Given the description of an element on the screen output the (x, y) to click on. 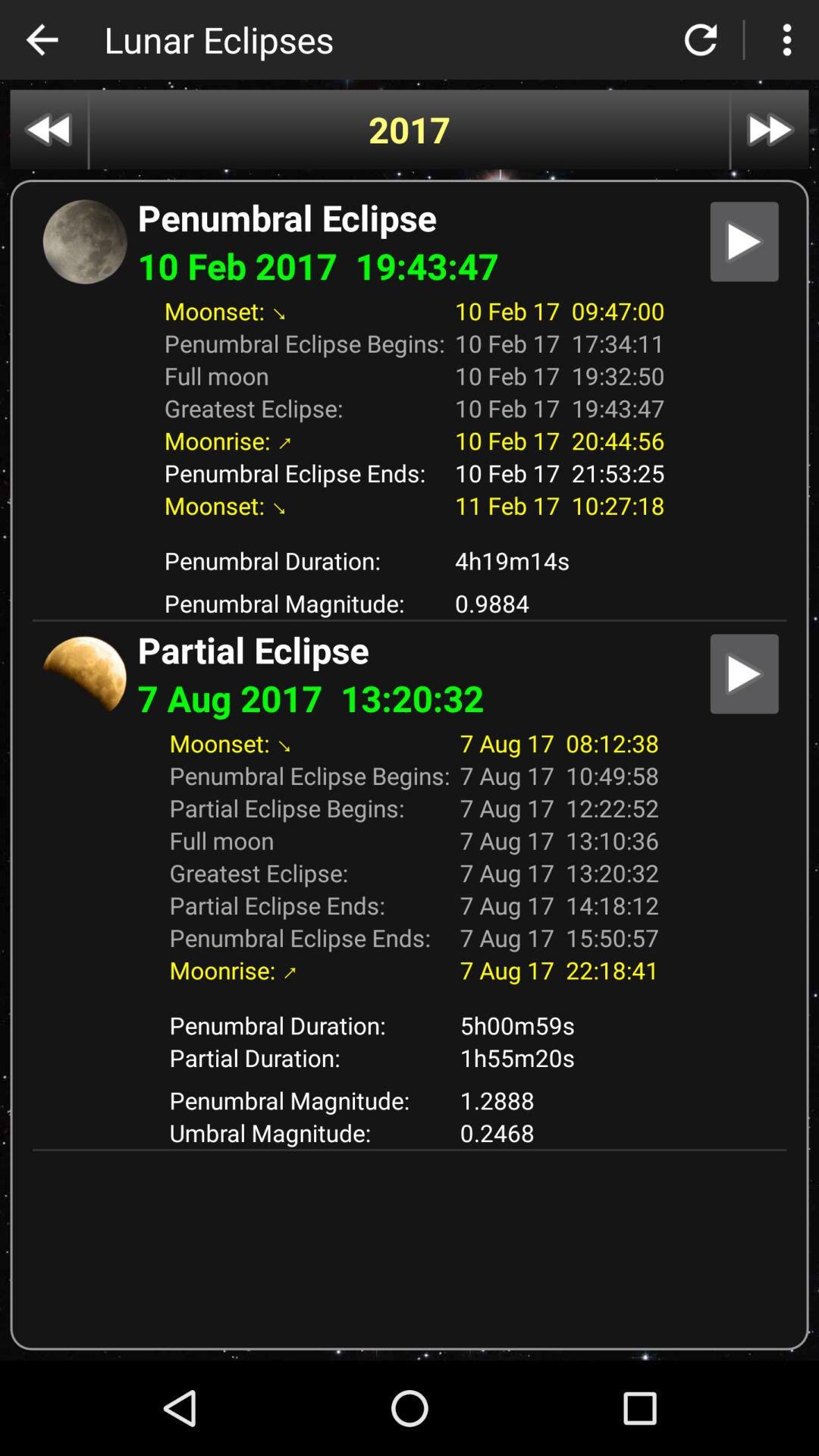
refresh information (700, 39)
